Given the description of an element on the screen output the (x, y) to click on. 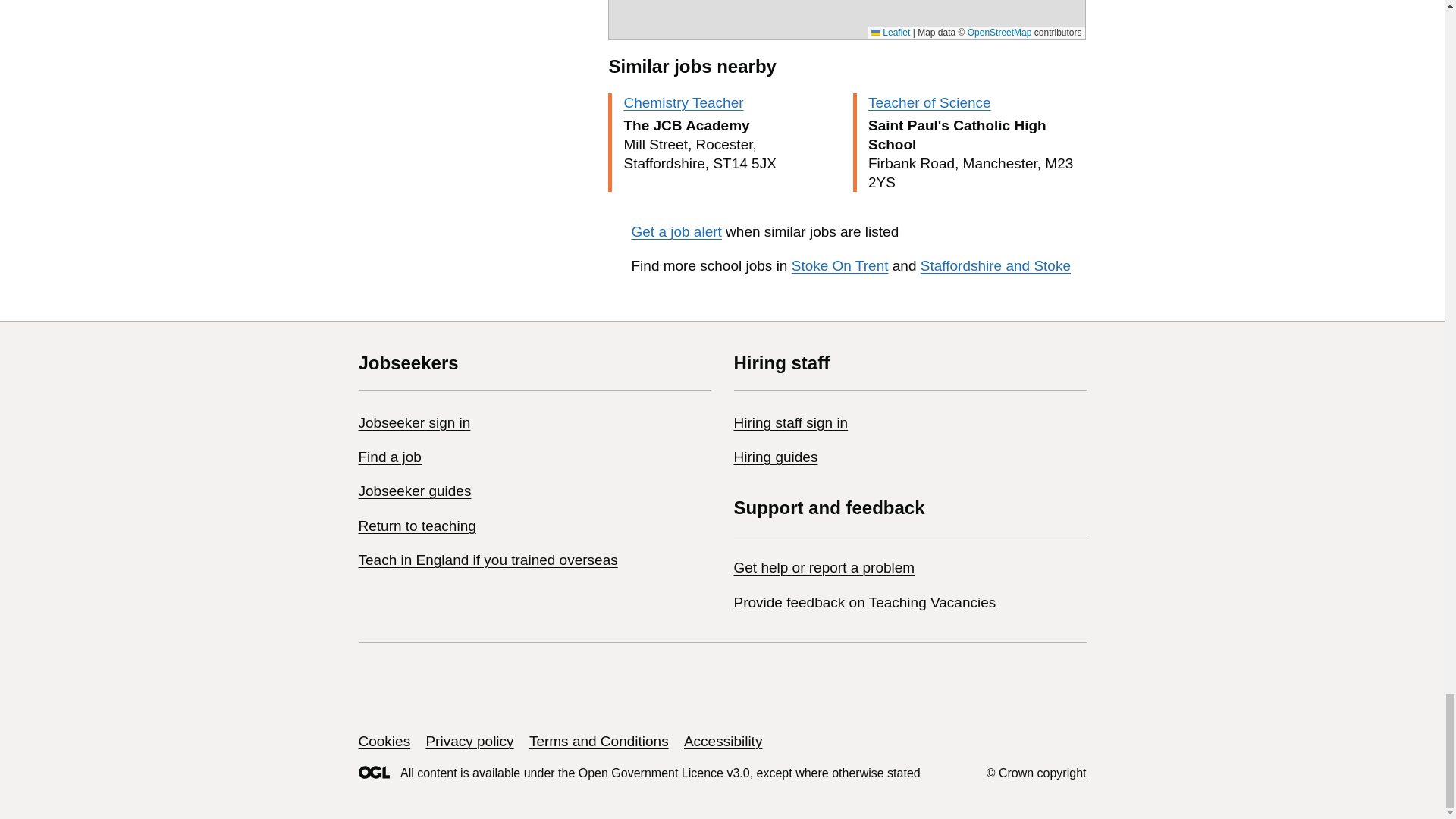
Leaflet (890, 32)
Return to teaching (417, 525)
Chemistry Teacher (682, 102)
Get a job alert (675, 231)
Staffordshire and Stoke (995, 265)
OpenStreetMap (1000, 32)
Teacher of Science (929, 102)
Stoke On Trent (840, 265)
Jobseeker guides (414, 490)
Jobseeker sign in (414, 422)
